Given the description of an element on the screen output the (x, y) to click on. 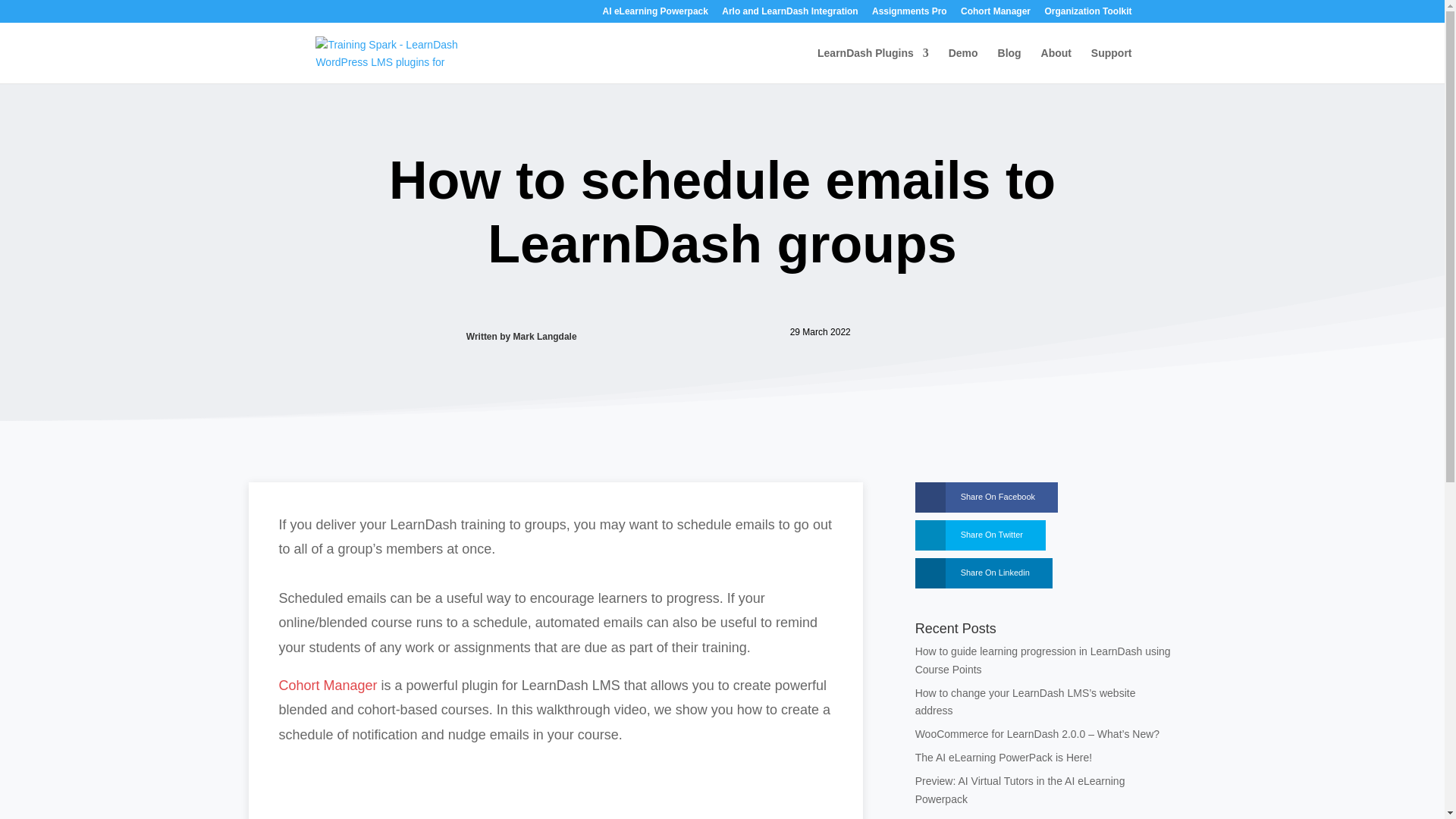
LearnDash Plugins (872, 65)
How to schedule emails to LearnDash groups (555, 782)
Blog (1009, 65)
Cohort Manager (995, 14)
Mark Langdale (544, 336)
Share On Linkedin (972, 572)
Demo (963, 65)
Share On Facebook (975, 497)
Assignments Pro (909, 14)
Organization Toolkit (1087, 14)
Arlo and LearnDash Integration (789, 14)
Support (1111, 65)
Share On Twitter (969, 535)
Cohort Manager (328, 685)
